Given the description of an element on the screen output the (x, y) to click on. 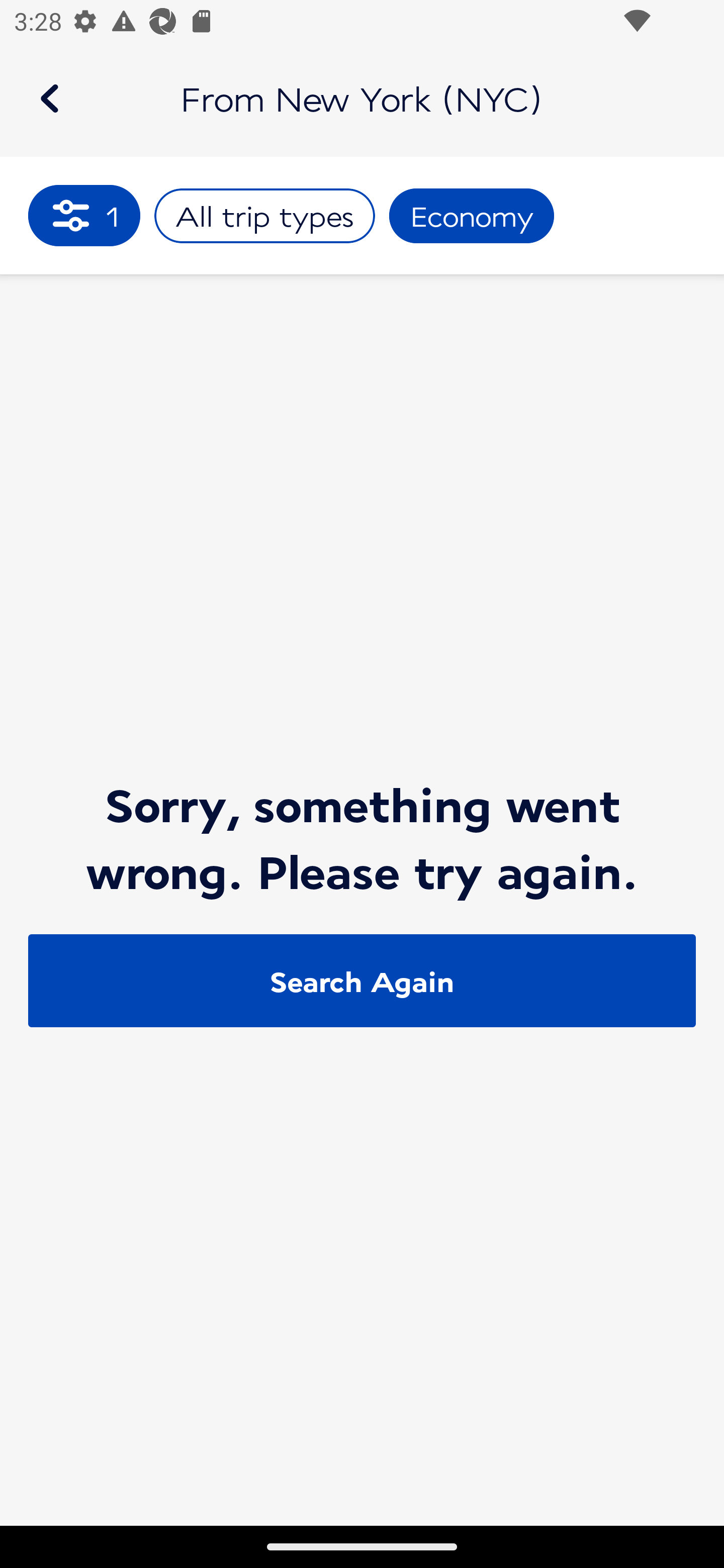
leading 1 (84, 215)
All trip types (264, 216)
Economy (471, 216)
Search Again (361, 980)
